Given the description of an element on the screen output the (x, y) to click on. 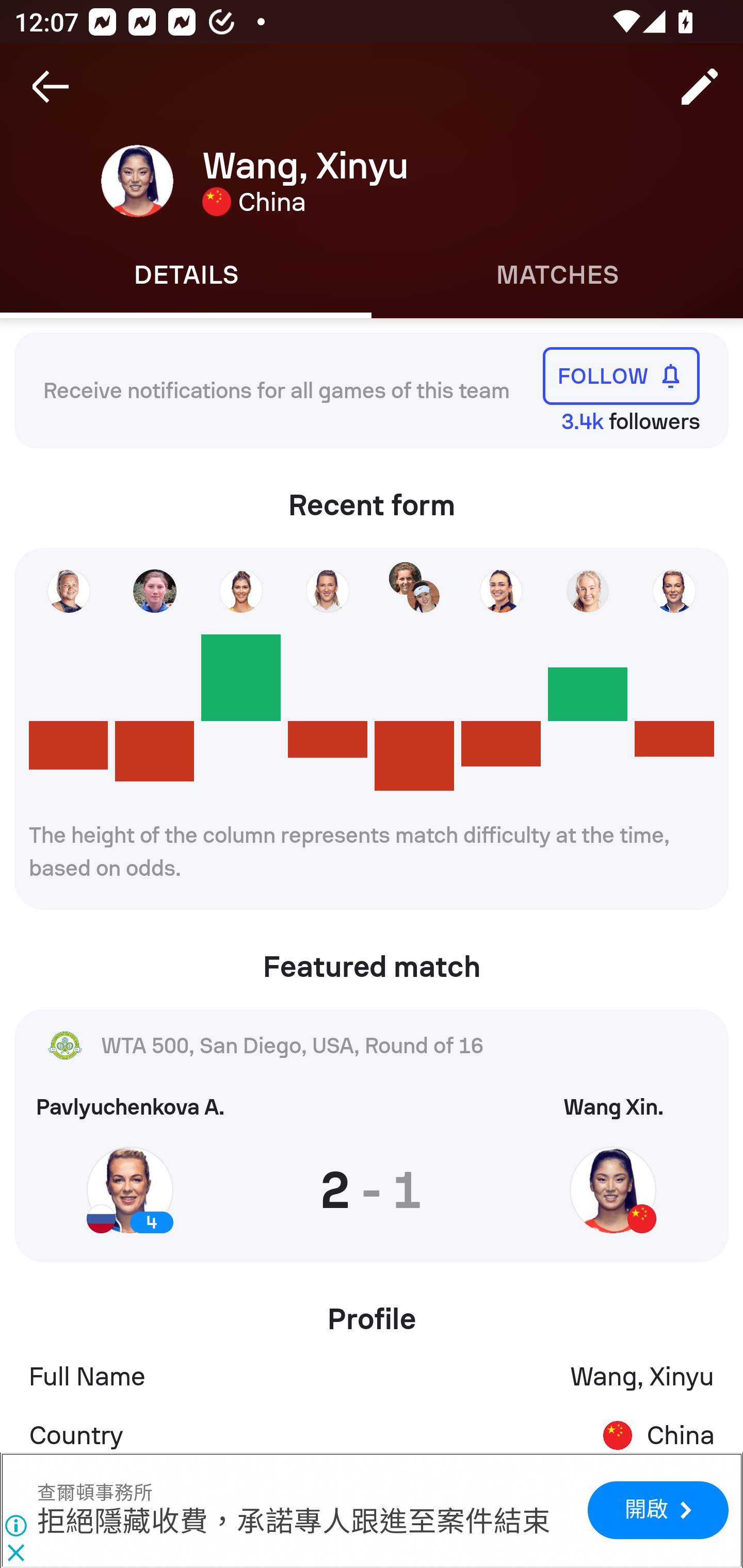
Navigate up (50, 86)
Edit (699, 86)
Matches MATCHES (557, 275)
FOLLOW (621, 375)
查爾頓事務所 (94, 1493)
開啟 (657, 1511)
拒絕隱藏收費，承諾專人跟進至案件結束 (293, 1523)
